Given the description of an element on the screen output the (x, y) to click on. 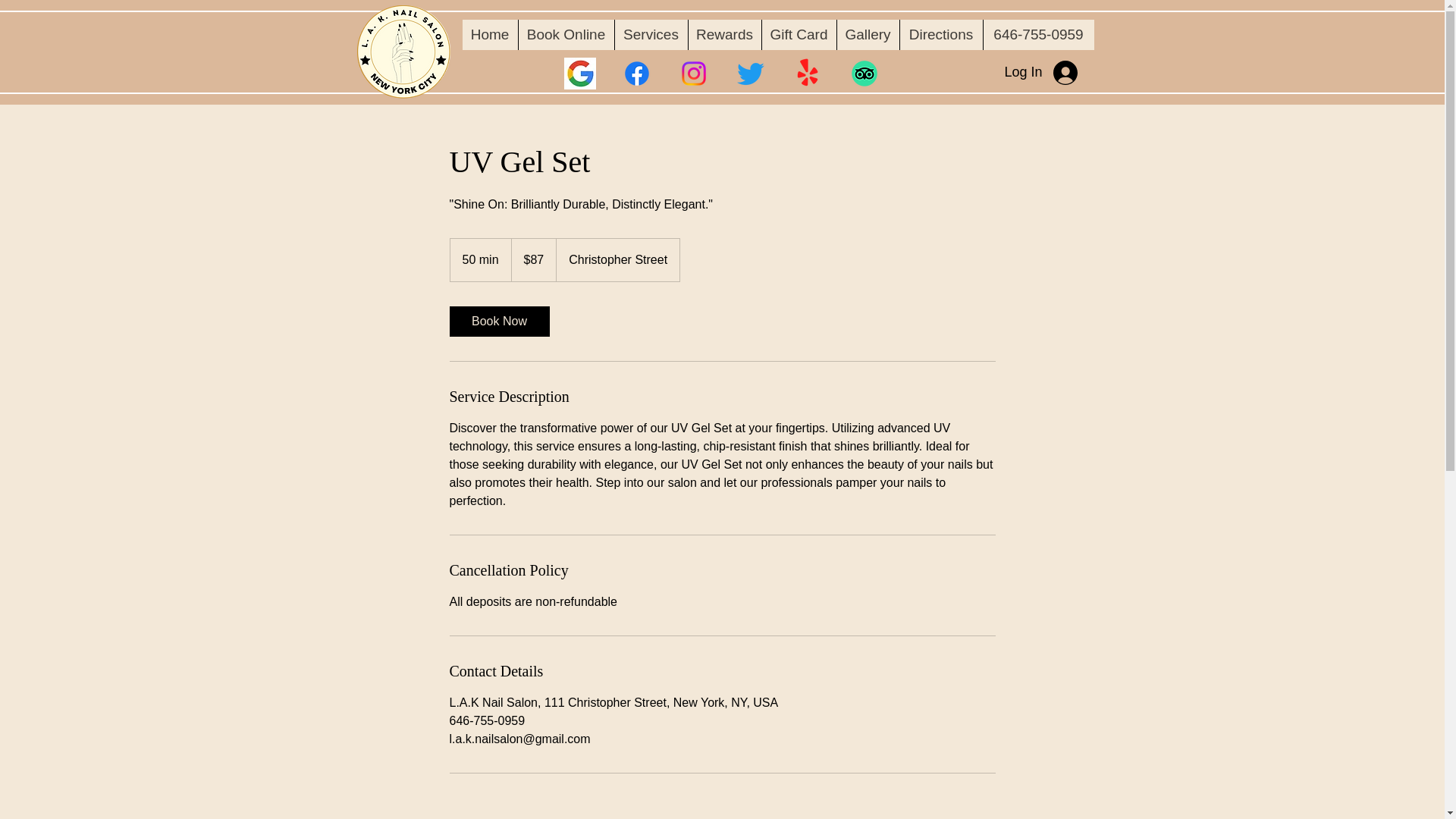
Rewards (723, 34)
Services (650, 34)
Gift Card (798, 34)
Home (490, 34)
Book Online (564, 34)
Log In (1039, 72)
Gallery (866, 34)
646-755-0959 (1038, 34)
Directions (940, 34)
Book Now (498, 321)
